Given the description of an element on the screen output the (x, y) to click on. 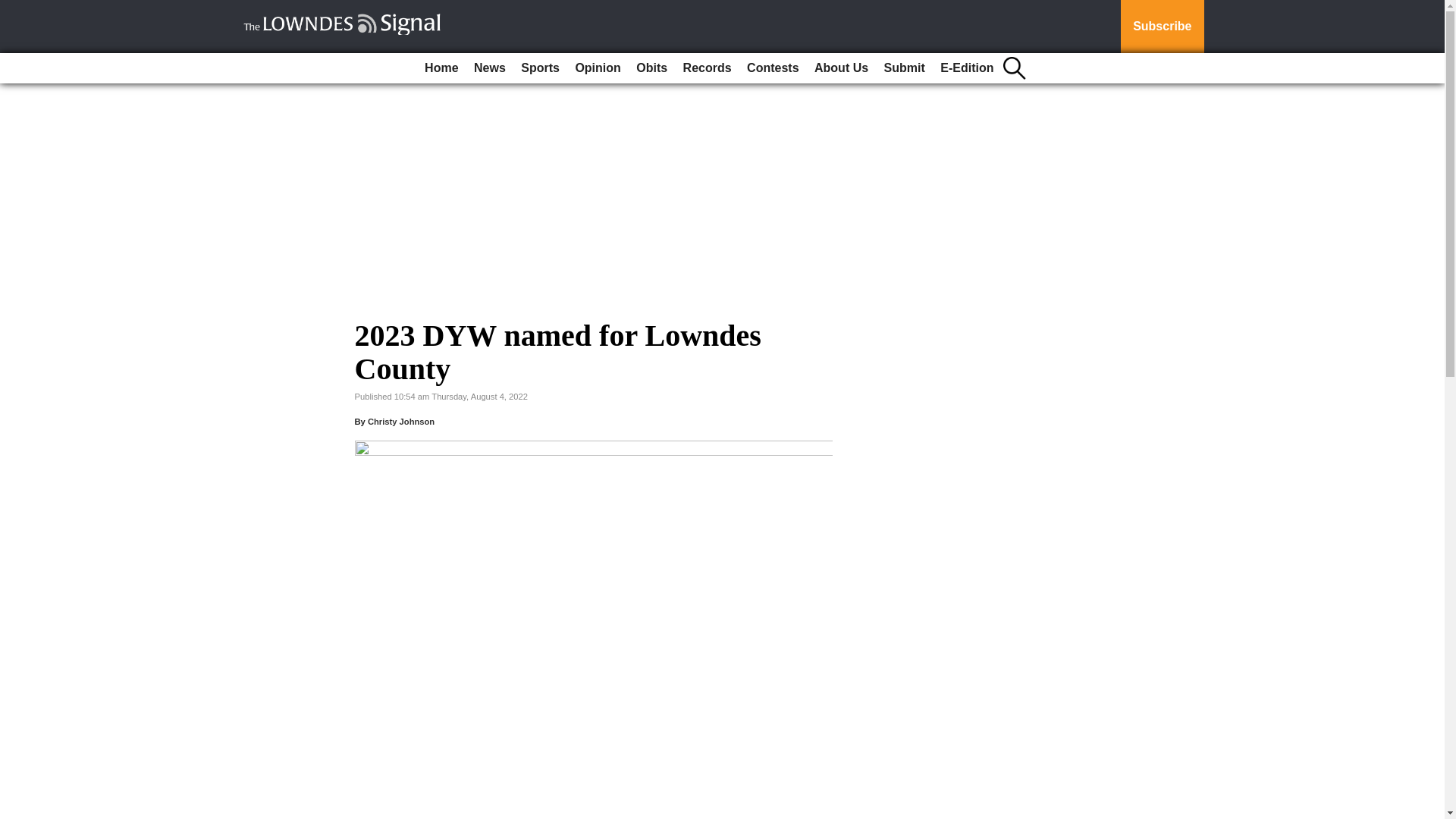
Opinion (597, 68)
Subscribe (1162, 26)
News (489, 68)
Submit (904, 68)
Home (441, 68)
About Us (841, 68)
Christy Johnson (400, 420)
Contests (773, 68)
Sports (540, 68)
Obits (651, 68)
Go (13, 9)
E-Edition (966, 68)
Records (707, 68)
